Given the description of an element on the screen output the (x, y) to click on. 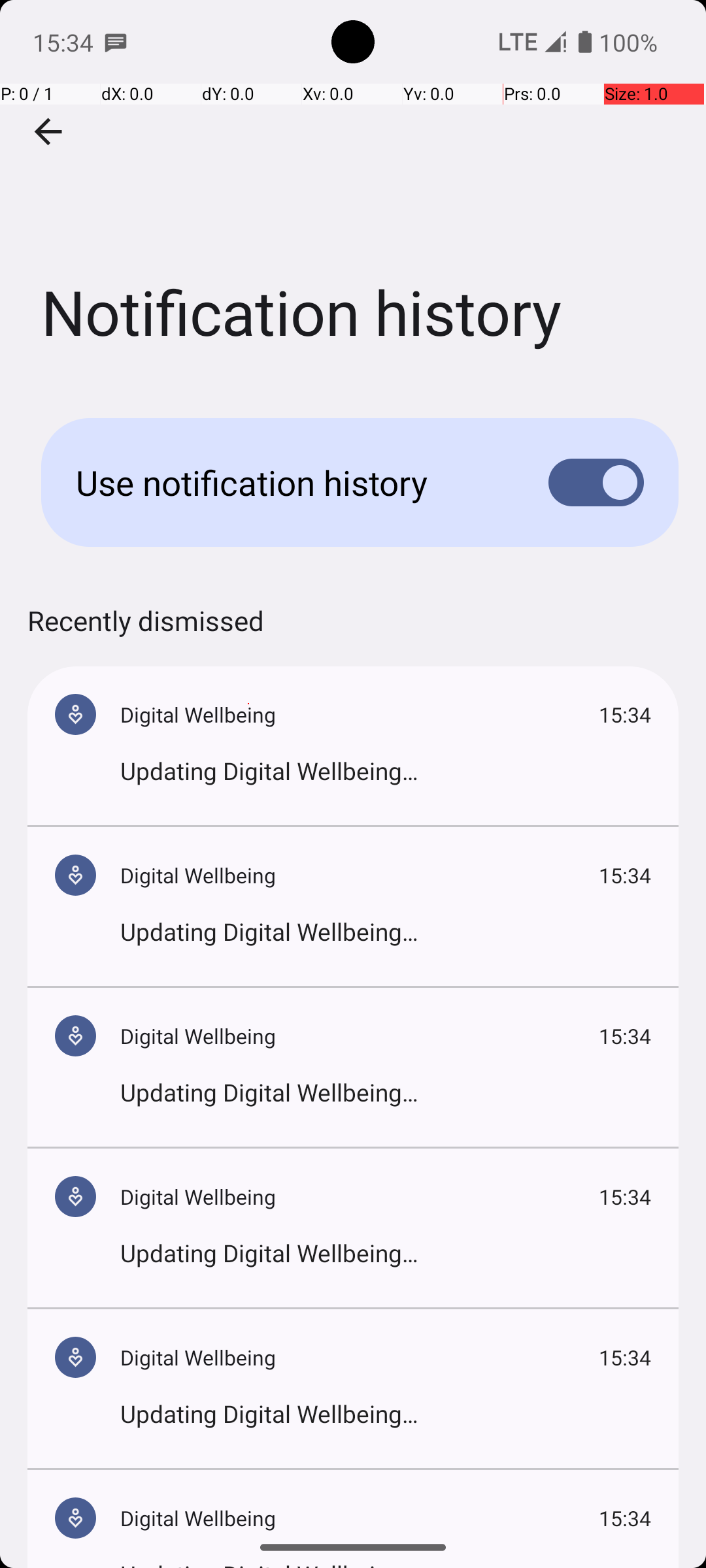
Recently dismissed Element type: android.widget.TextView (145, 633)
Use notification history Element type: android.widget.TextView (291, 482)
Digital Wellbeing Element type: android.widget.TextView (359, 714)
Updating Digital Wellbeing… Element type: android.widget.TextView (385, 770)
